Given the description of an element on the screen output the (x, y) to click on. 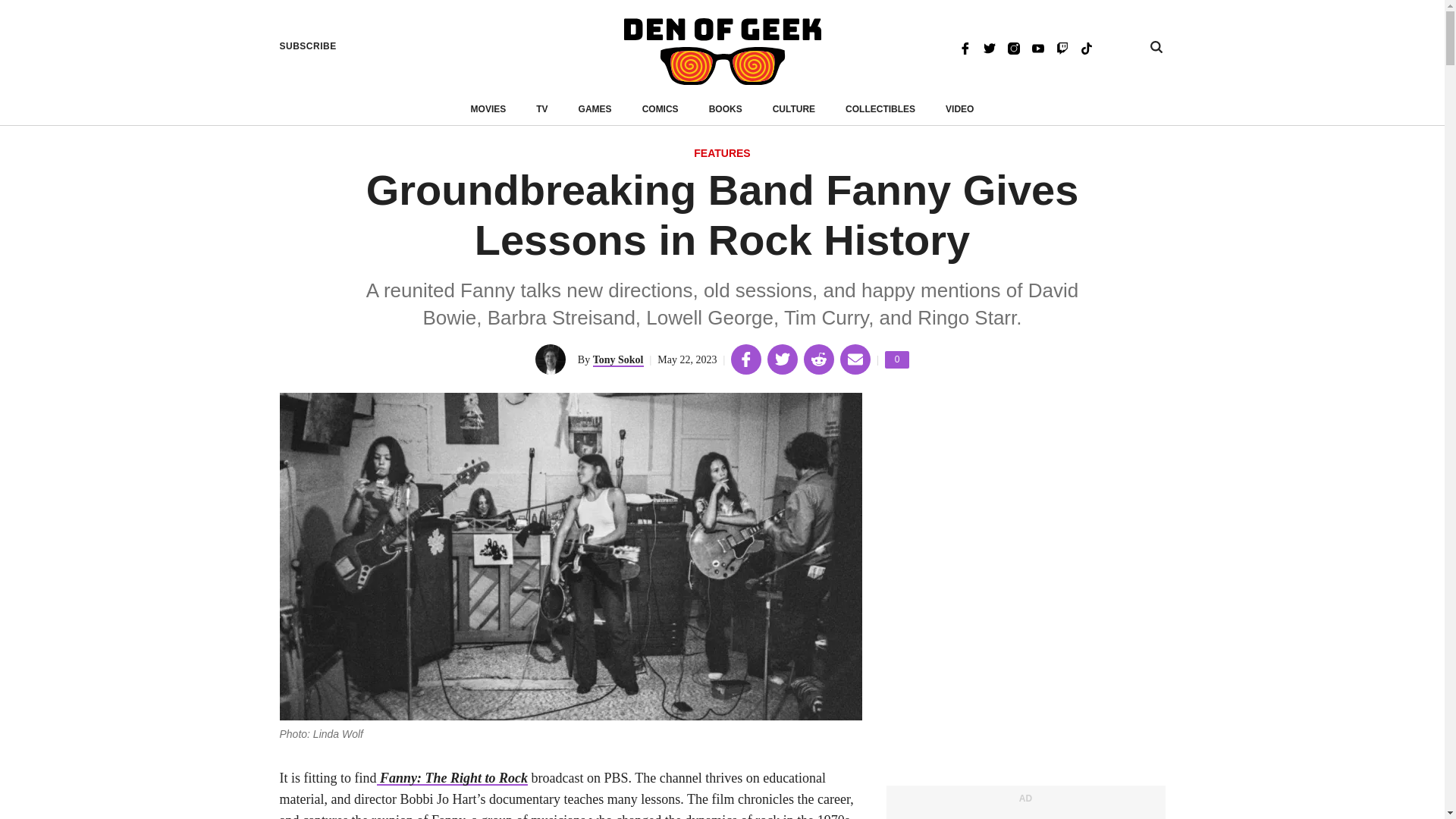
Fanny: The Right to Rock (451, 777)
CULTURE (896, 359)
SUBSCRIBE (794, 109)
FEATURES (307, 46)
COMICS (721, 153)
Instagram (660, 109)
TikTok (1013, 46)
MOVIES (1085, 46)
GAMES (488, 109)
